Given the description of an element on the screen output the (x, y) to click on. 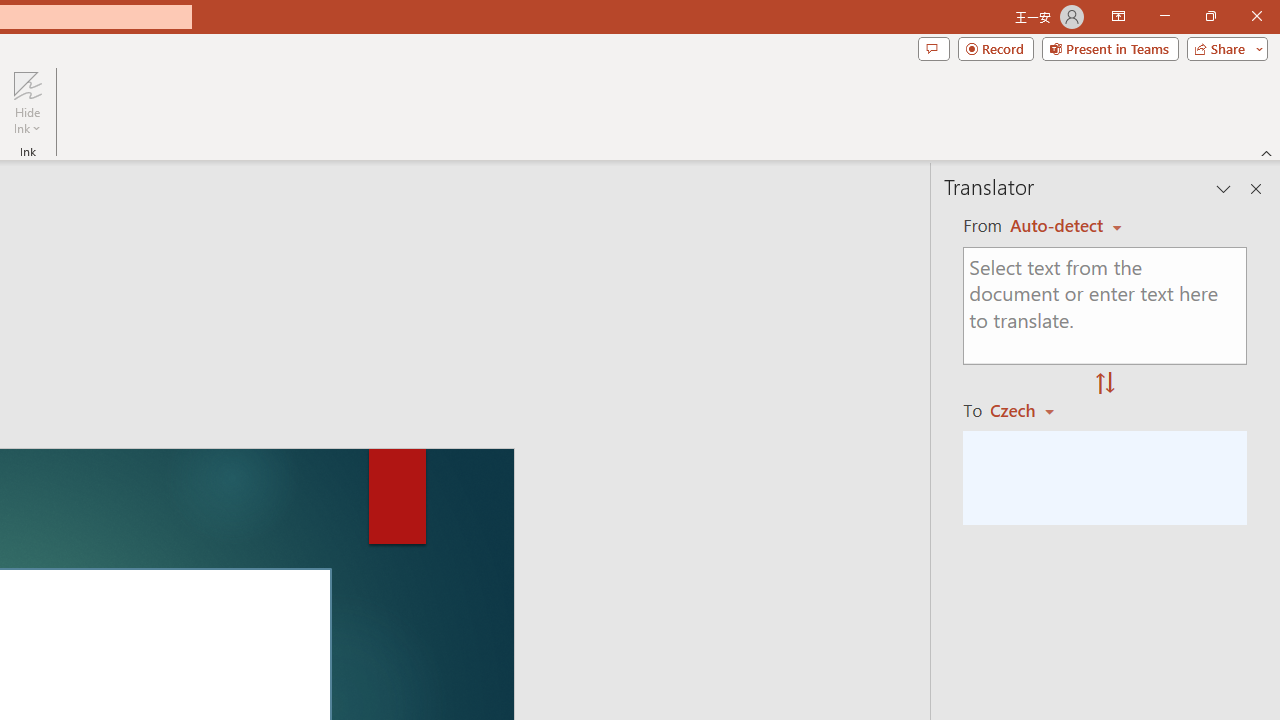
Auto-detect (1066, 225)
Swap "from" and "to" languages. (1105, 383)
